Given the description of an element on the screen output the (x, y) to click on. 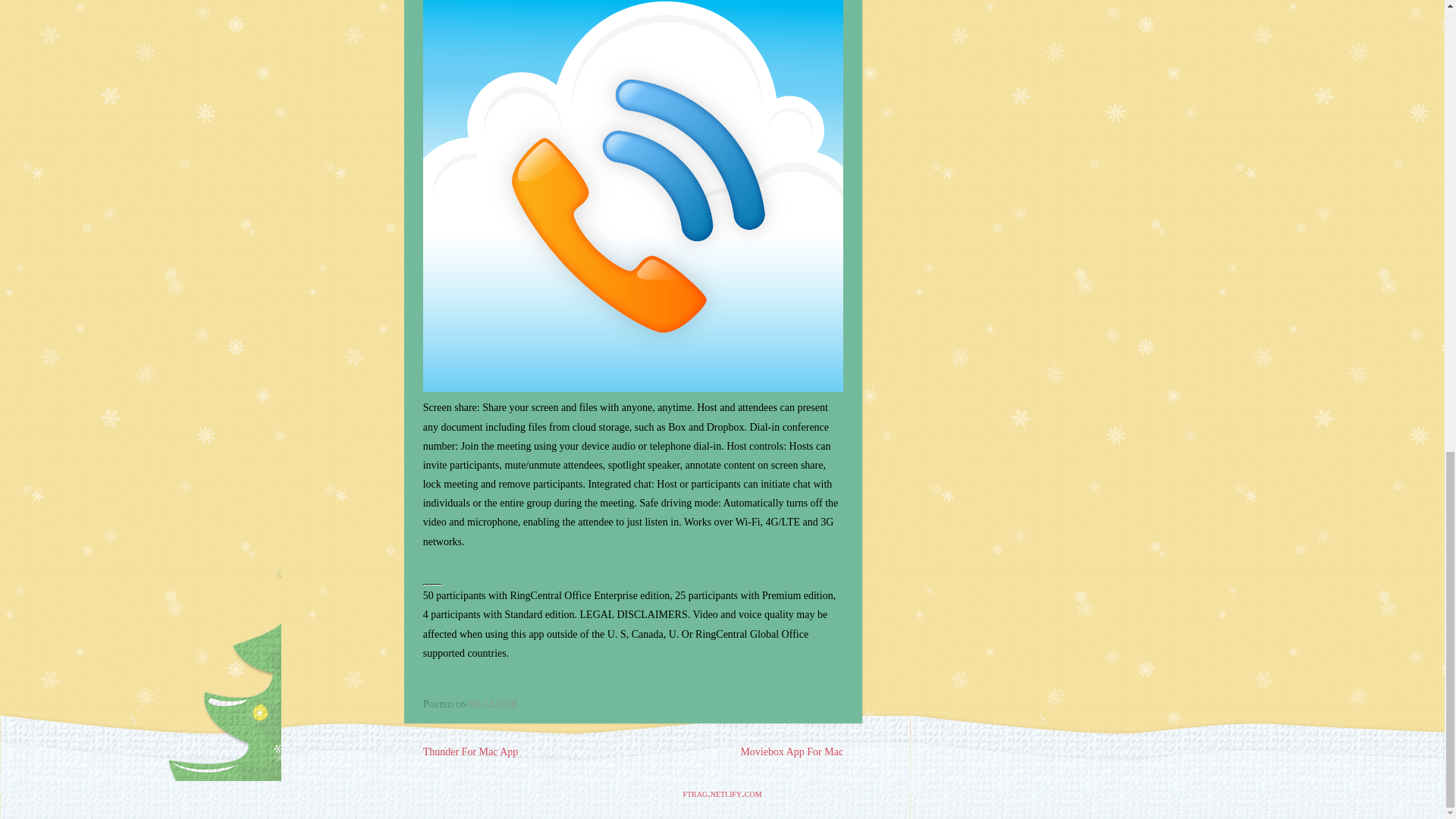
Moviebox App For Mac (791, 751)
ftrag.netlify.com (721, 793)
Thunder For Mac App (470, 751)
11:01 (492, 704)
08.12.2018 (492, 704)
